Given the description of an element on the screen output the (x, y) to click on. 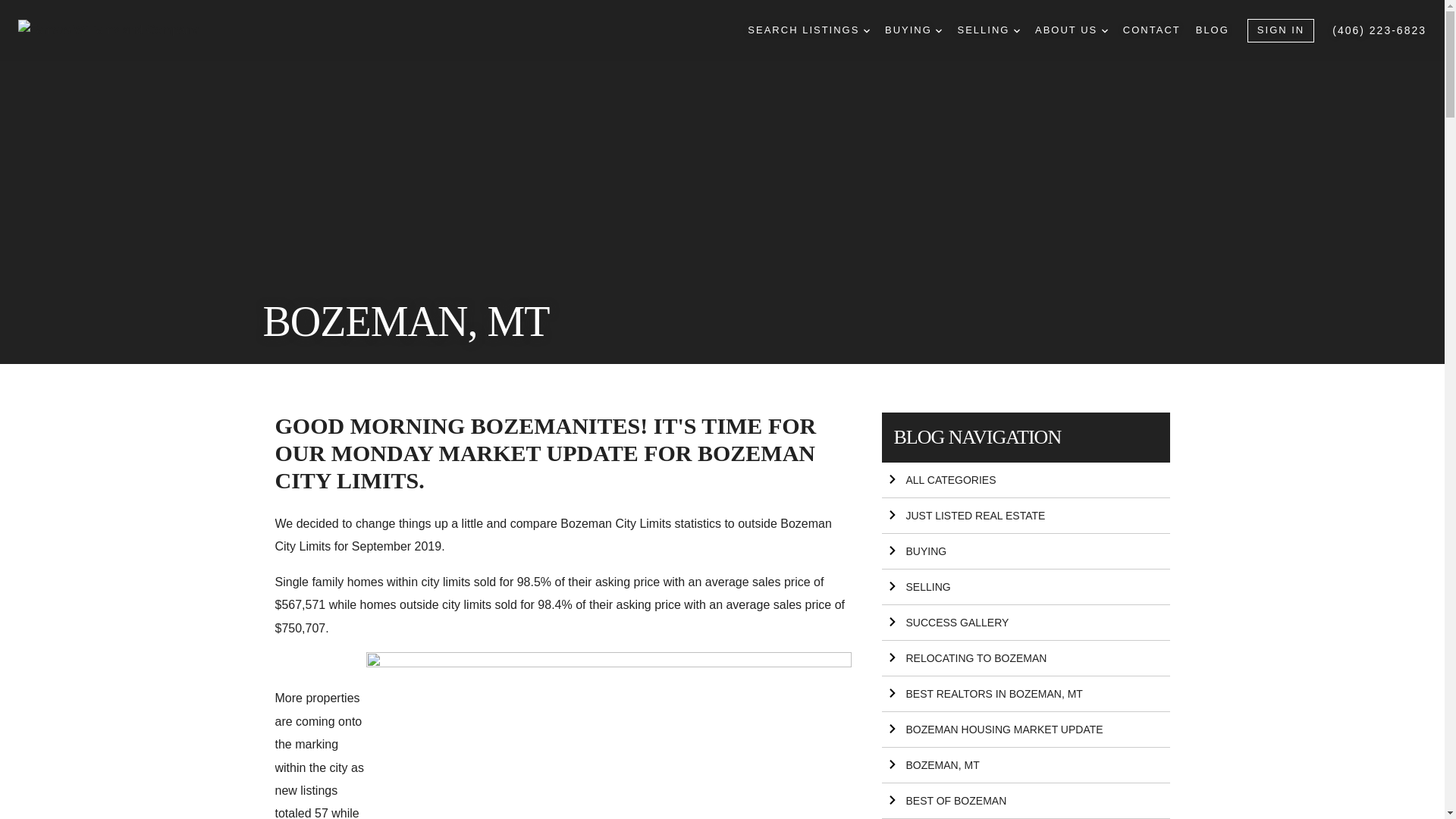
SEARCH LISTINGS DROPDOWN ARROW (808, 30)
DROPDOWN ARROW (866, 30)
DROPDOWN ARROW (939, 30)
BLOG (1211, 30)
DROPDOWN ARROW (1016, 30)
BUYING DROPDOWN ARROW (913, 30)
DROPDOWN ARROW (1105, 30)
SELLING DROPDOWN ARROW (988, 30)
CONTACT (1151, 30)
ABOUT US DROPDOWN ARROW (1071, 30)
